Given the description of an element on the screen output the (x, y) to click on. 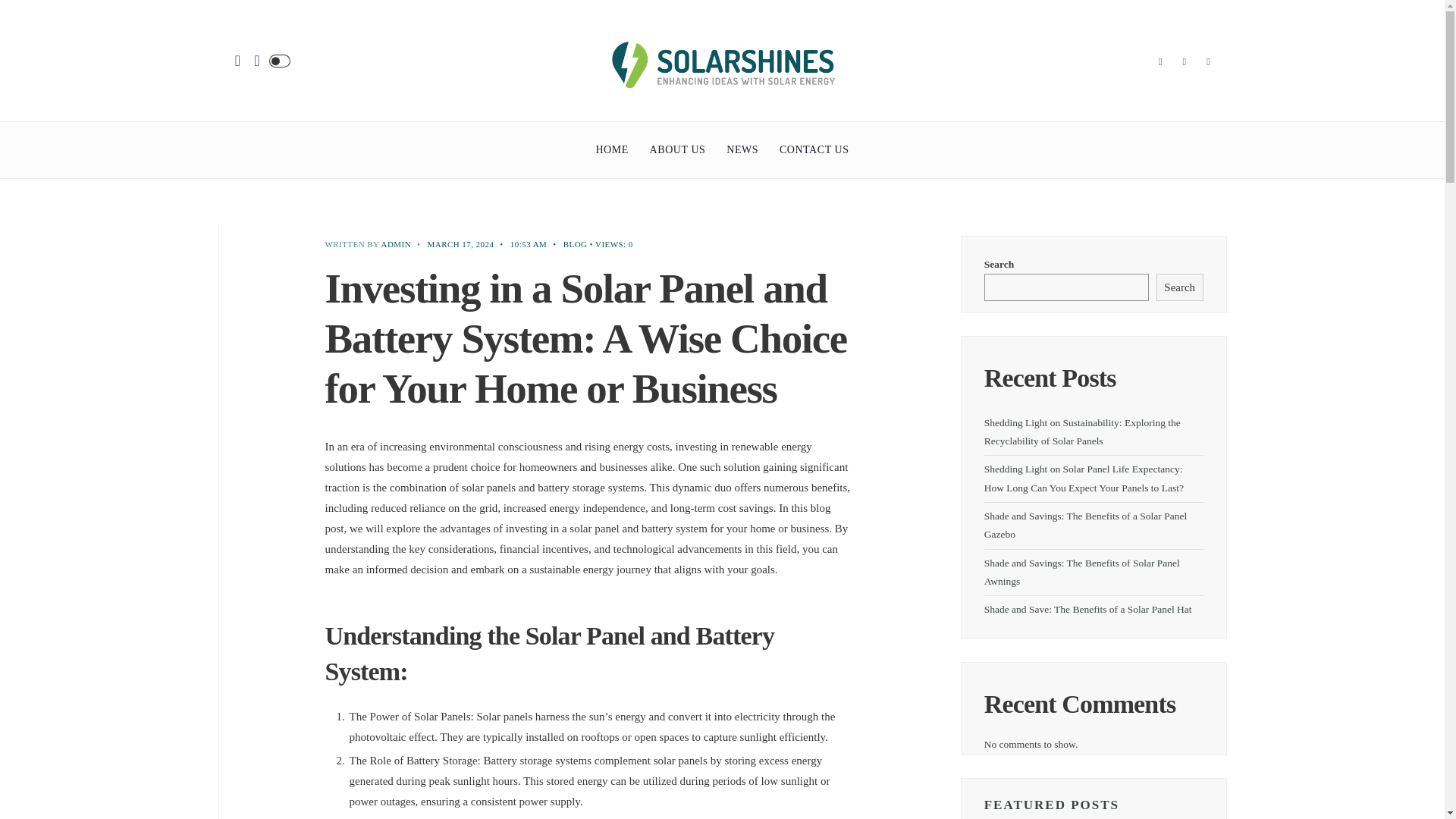
Shade and Save: The Benefits of a Solar Panel Hat (1088, 609)
Shade and Savings: The Benefits of a Solar Panel Gazebo (1085, 524)
Instagram (1209, 62)
Search (1180, 287)
Shade and Savings: The Benefits of Solar Panel Awnings (1081, 572)
NEWS (742, 150)
ABOUT US (677, 150)
BLOG (575, 243)
Posts by admin (395, 243)
CONTACT US (813, 150)
ADMIN (395, 243)
Twitter (1184, 62)
